Given the description of an element on the screen output the (x, y) to click on. 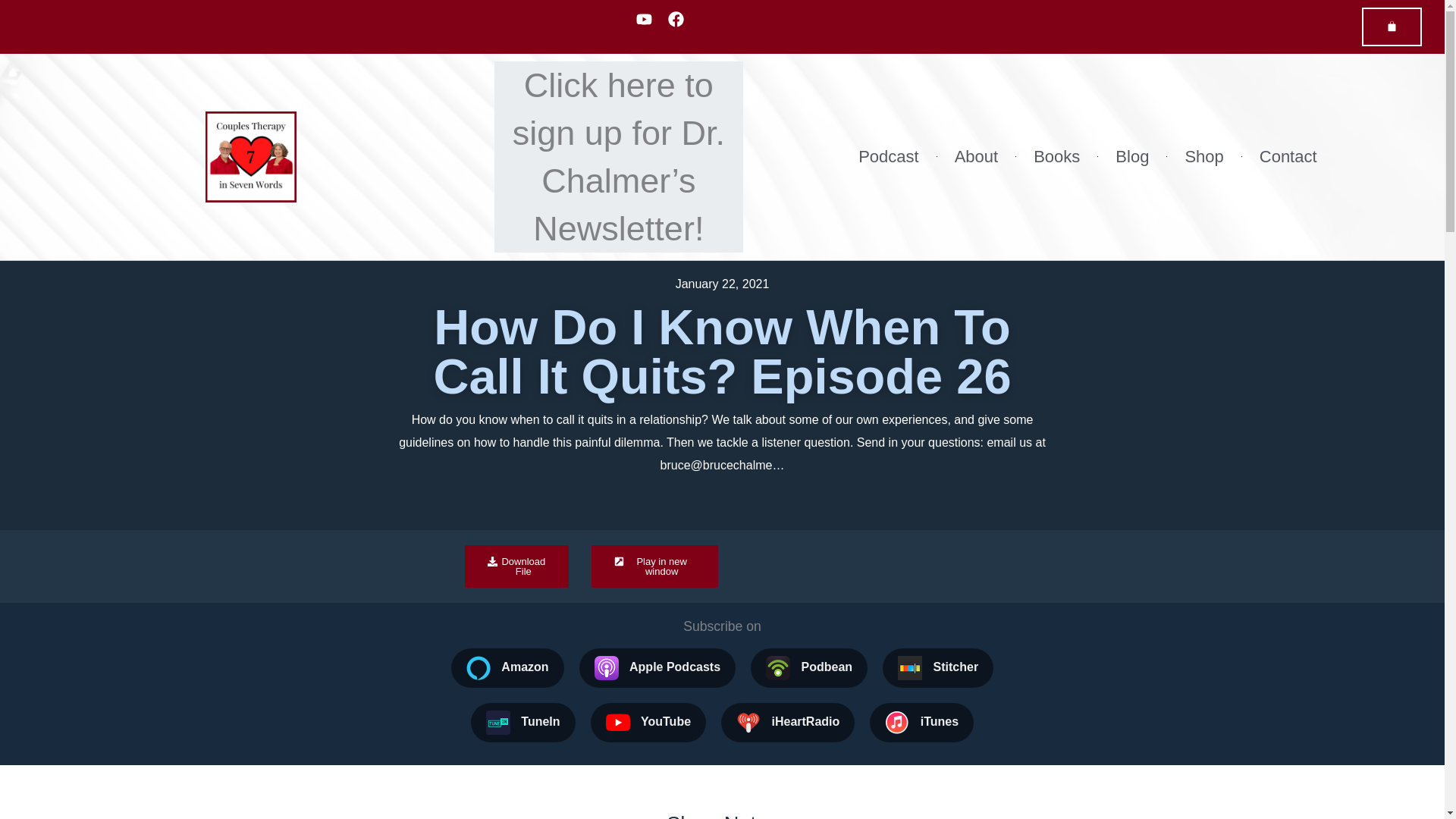
Books (1055, 156)
TuneIn (522, 722)
iTunes (921, 722)
Stitcher (937, 667)
Apple Podcasts (657, 667)
Contact (1288, 156)
Shop (1204, 156)
Download File (516, 566)
Amazon (507, 667)
Cart (1391, 26)
